Given the description of an element on the screen output the (x, y) to click on. 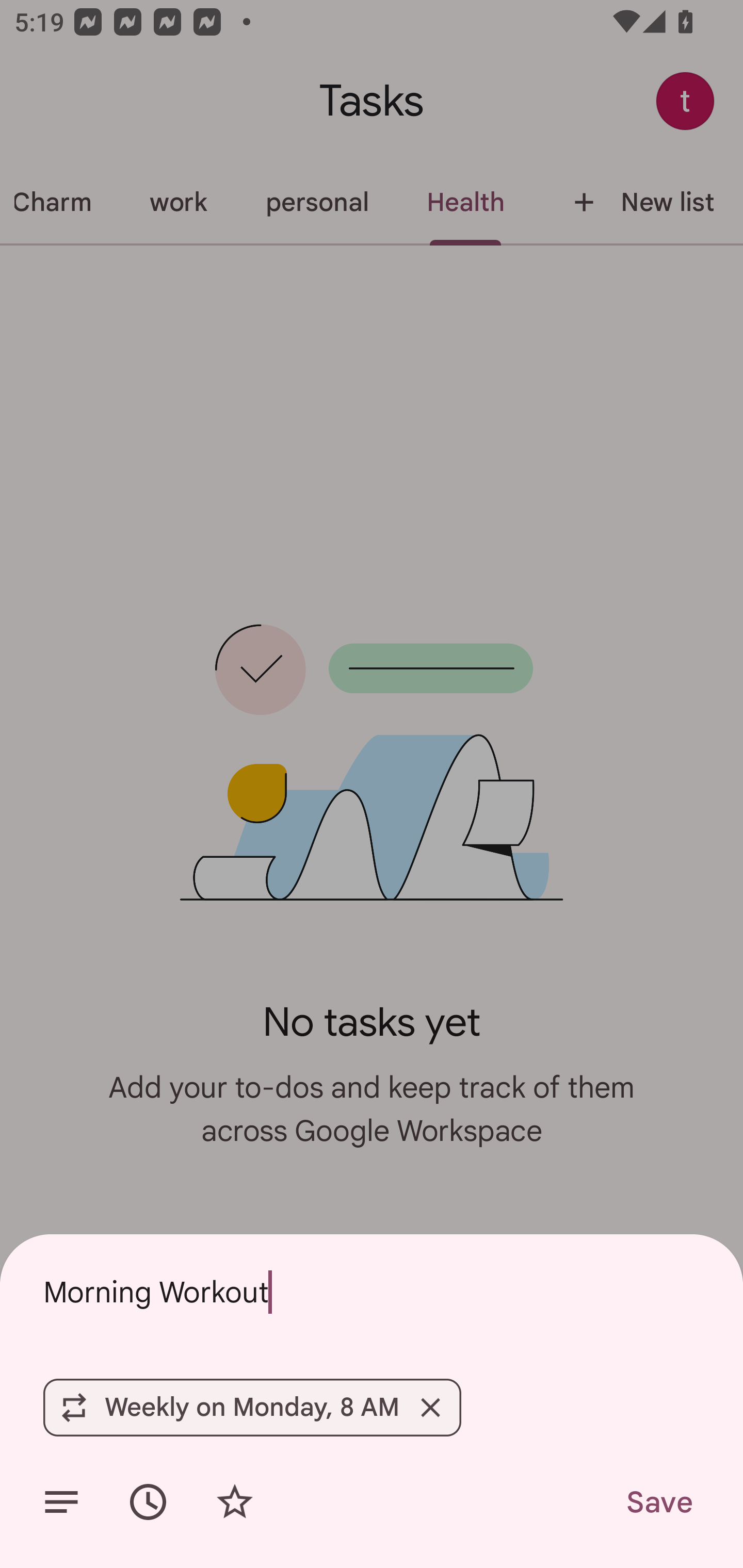
Morning Workout (371, 1291)
Save (659, 1501)
Add details (60, 1501)
Set date/time (147, 1501)
Add star (234, 1501)
